Given the description of an element on the screen output the (x, y) to click on. 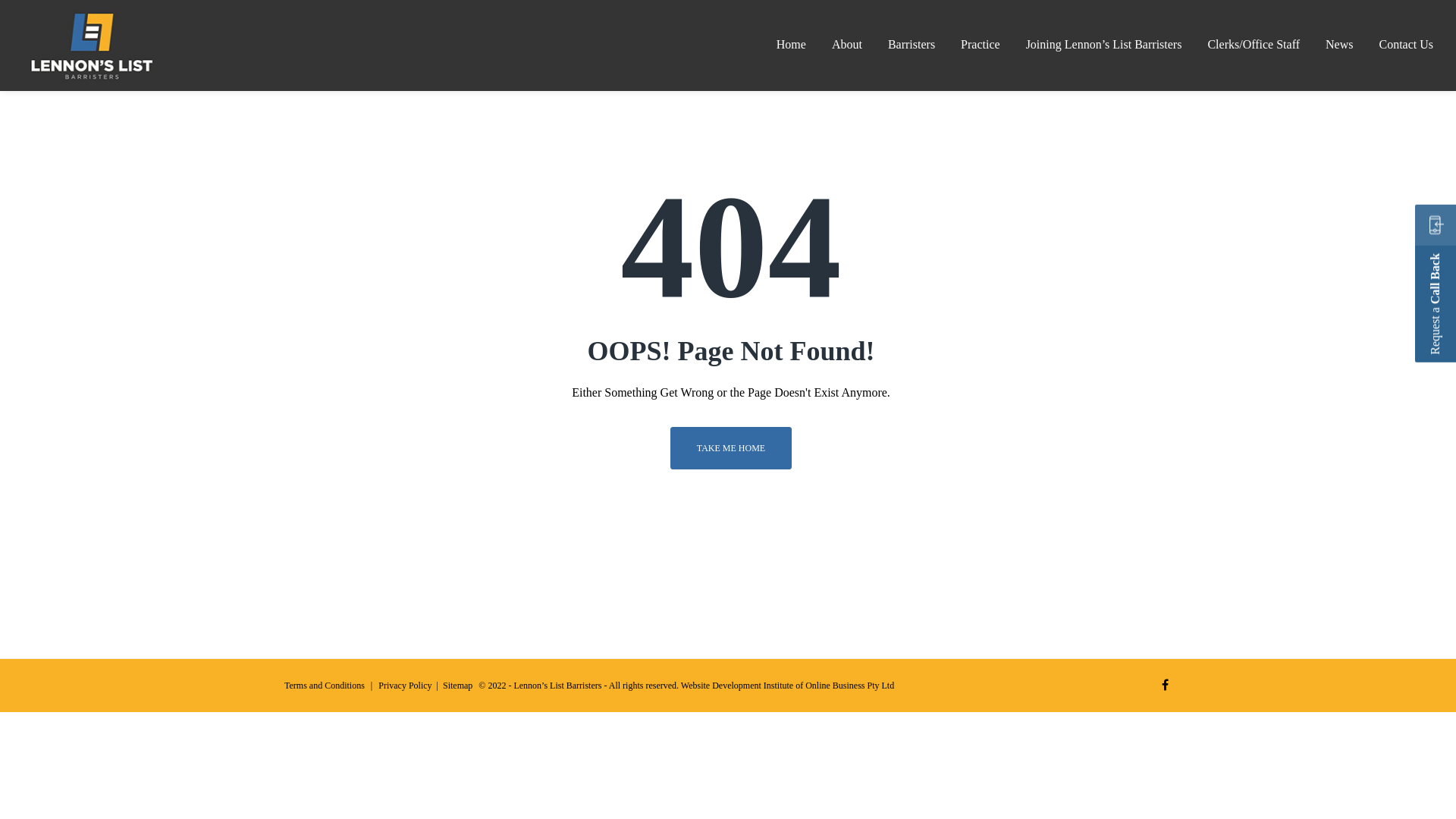
Clerks/Office Staff Element type: text (1253, 45)
Terms and Conditions Element type: text (324, 685)
Home Element type: text (791, 45)
Privacy Policy Element type: text (404, 685)
News Element type: text (1338, 45)
Contact Us Element type: text (1405, 45)
Practice Element type: text (980, 45)
Sitemap Element type: text (457, 685)
Website Development Institute of Online Business Pty Ltd Element type: text (787, 685)
About Element type: text (846, 45)
TAKE ME HOME Element type: text (730, 447)
Barristers Element type: text (911, 45)
